Given the description of an element on the screen output the (x, y) to click on. 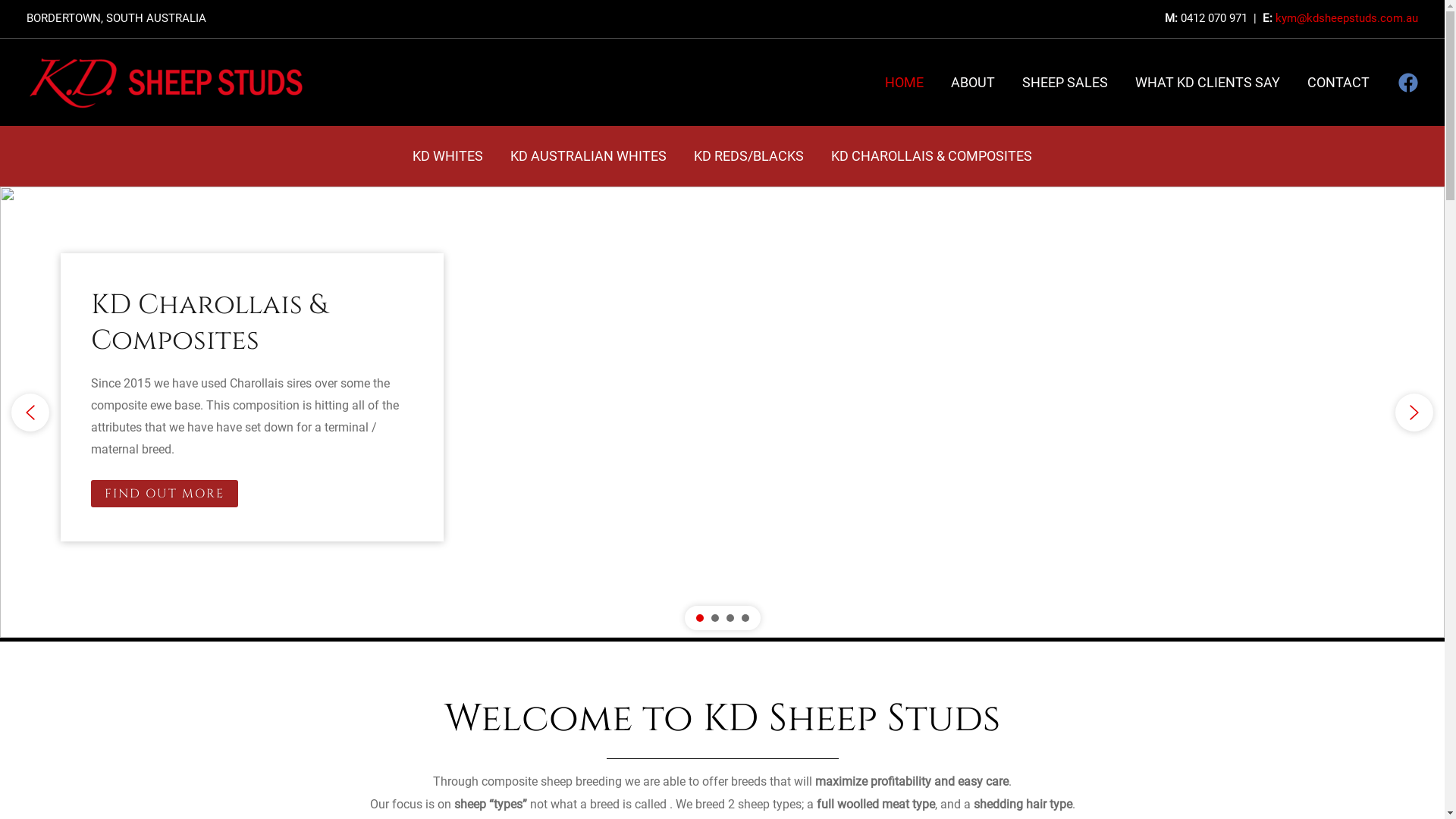
FIND OUT MORE Element type: text (164, 493)
KD AUSTRALIAN WHITES Element type: text (588, 155)
HOME Element type: text (904, 82)
KD CHAROLLAIS & COMPOSITES Element type: text (931, 155)
CONTACT Element type: text (1338, 82)
ABOUT Element type: text (972, 82)
WHAT KD CLIENTS SAY Element type: text (1207, 82)
KD WHITES Element type: text (447, 155)
kym@kdsheepstuds.com.au Element type: text (1346, 18)
SHEEP SALES Element type: text (1064, 82)
KD REDS/BLACKS Element type: text (748, 155)
